Given the description of an element on the screen output the (x, y) to click on. 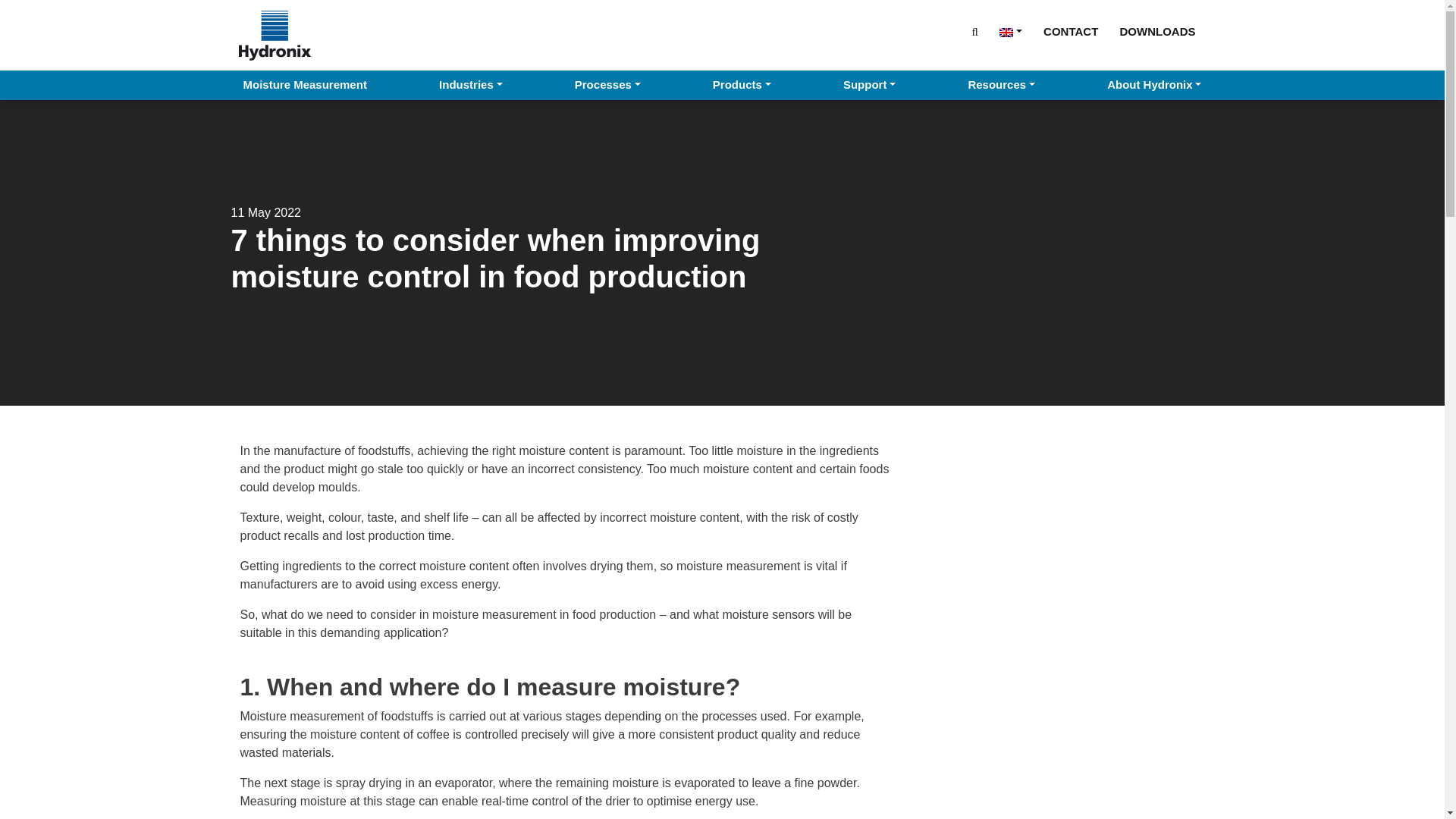
Industries (470, 84)
Moisture Measurement (304, 84)
Industries (470, 84)
DOWNLOADS (1157, 31)
CONTACT (1070, 31)
English (1010, 31)
Moisture Measurement (304, 84)
